Given the description of an element on the screen output the (x, y) to click on. 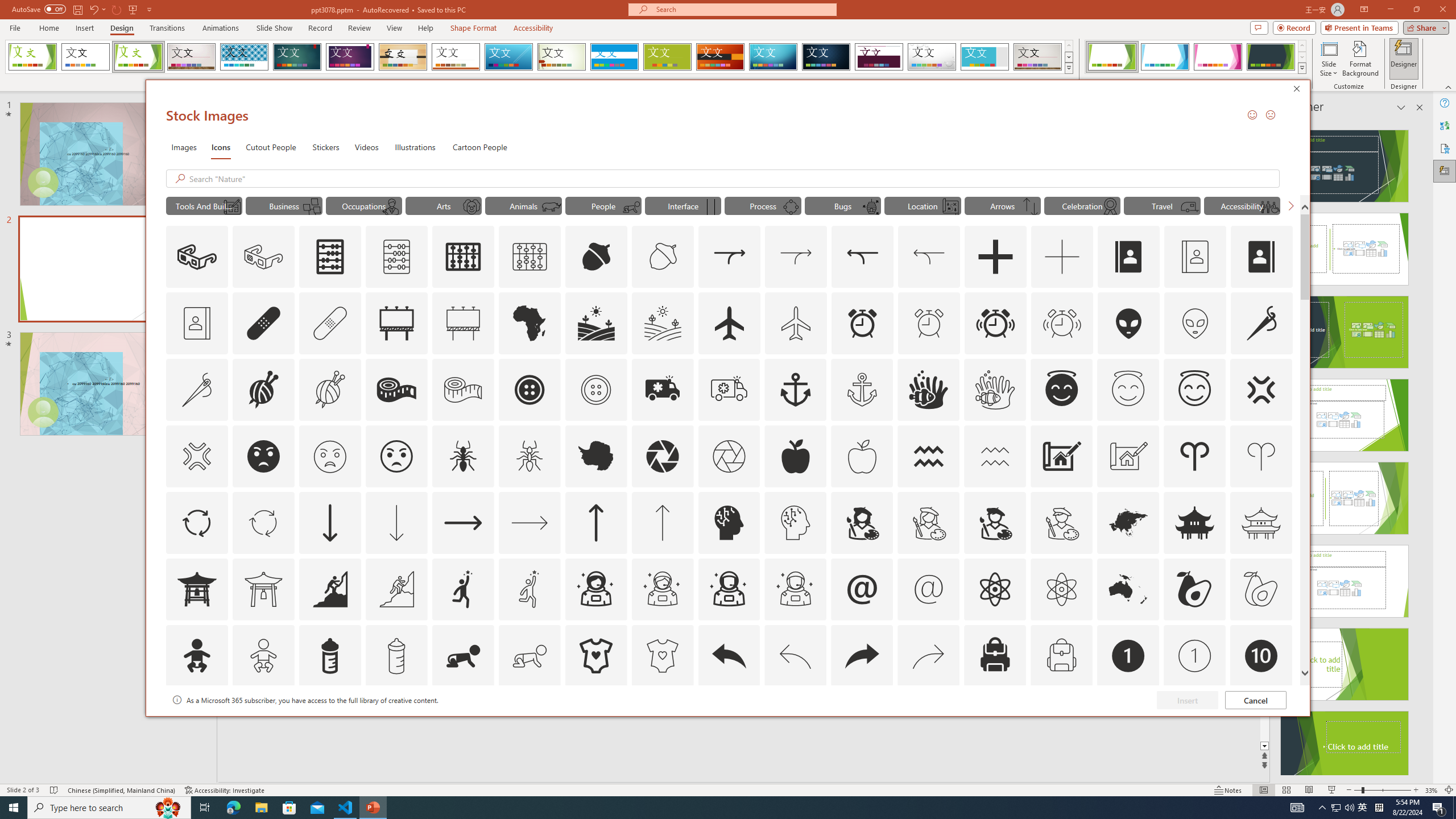
AutomationID: Icons_Baby_M (263, 655)
"Celebration" Icons. (1082, 205)
AutomationID: Icons_Badge1_M (1194, 655)
AutomationID: Icons_AngryFace_M (329, 455)
AutomationID: Icons_Advertising (397, 323)
Stickers (326, 146)
AutomationID: Icons_Ant (462, 455)
AutomationID: Icons_AngryFace (263, 455)
AutomationID: Icons_BabyCrawling_M (529, 655)
